Given the description of an element on the screen output the (x, y) to click on. 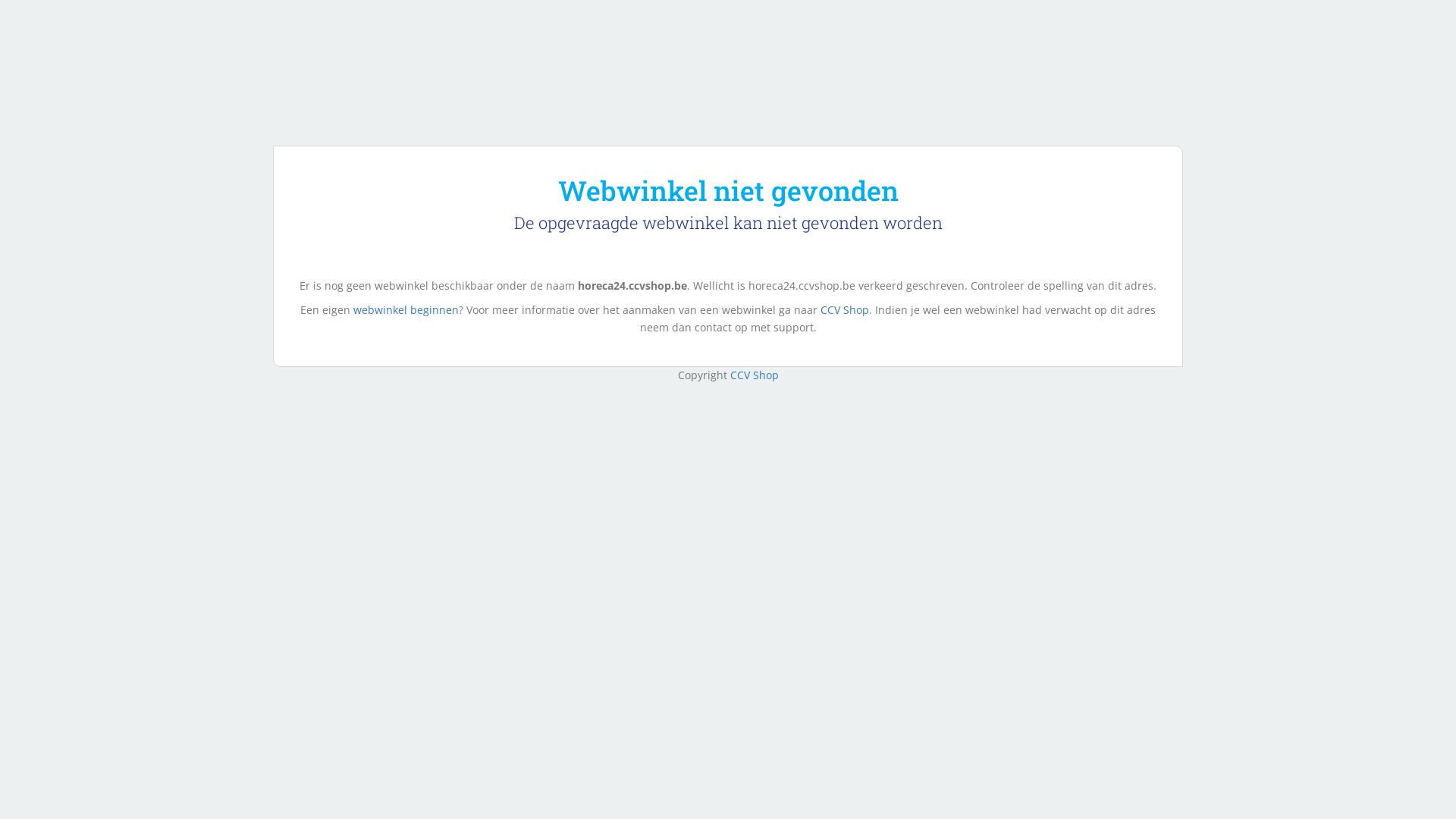
CCV Shop Element type: text (753, 374)
webwinkel beginnen Element type: text (405, 309)
CCV Shop Element type: text (844, 309)
